Given the description of an element on the screen output the (x, y) to click on. 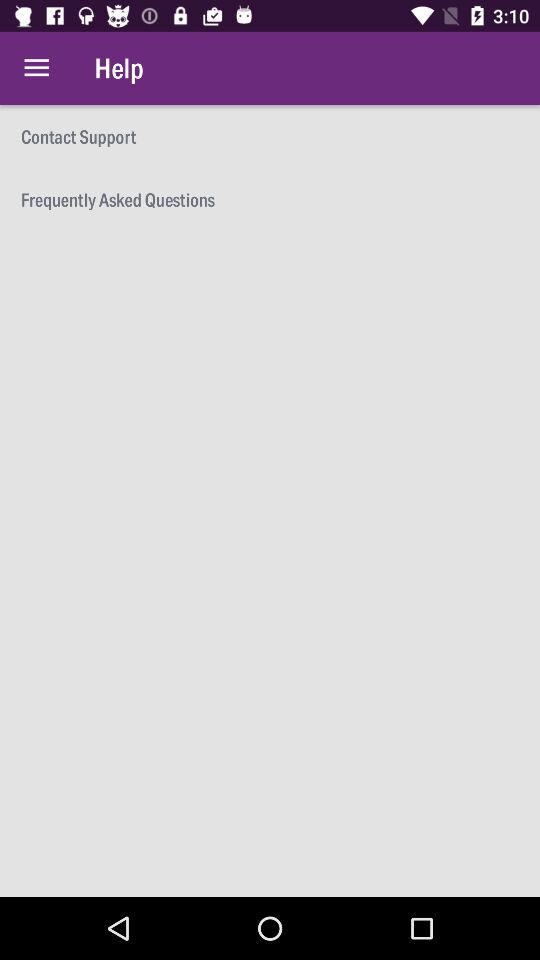
open item above frequently asked questions item (270, 136)
